Given the description of an element on the screen output the (x, y) to click on. 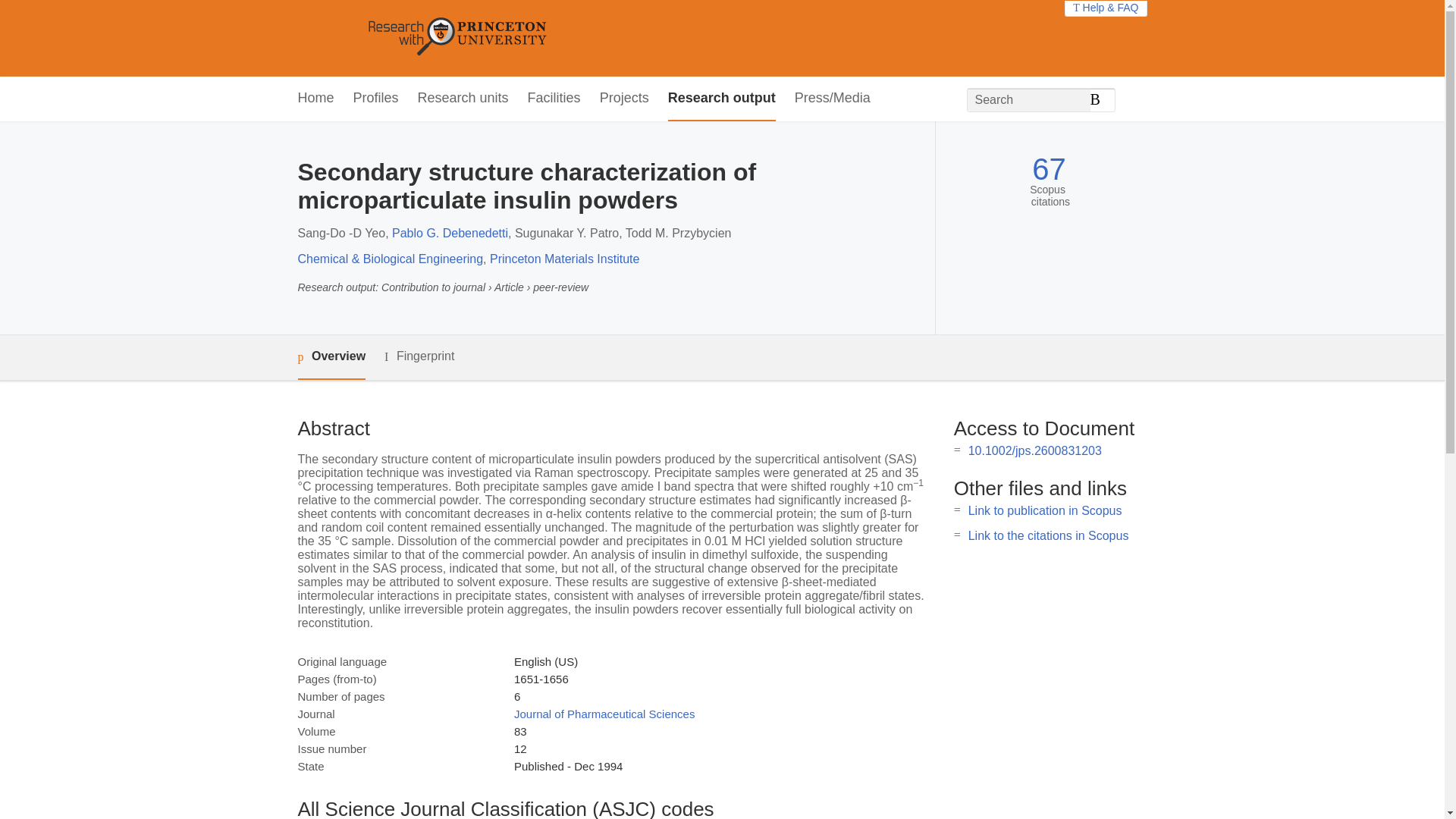
Facilities (553, 98)
Profiles (375, 98)
Research units (462, 98)
Overview (331, 357)
Journal of Pharmaceutical Sciences (603, 713)
Link to publication in Scopus (1045, 510)
Princeton University Home (567, 38)
Princeton Materials Institute (564, 258)
Link to the citations in Scopus (1048, 535)
Research output (722, 98)
